Given the description of an element on the screen output the (x, y) to click on. 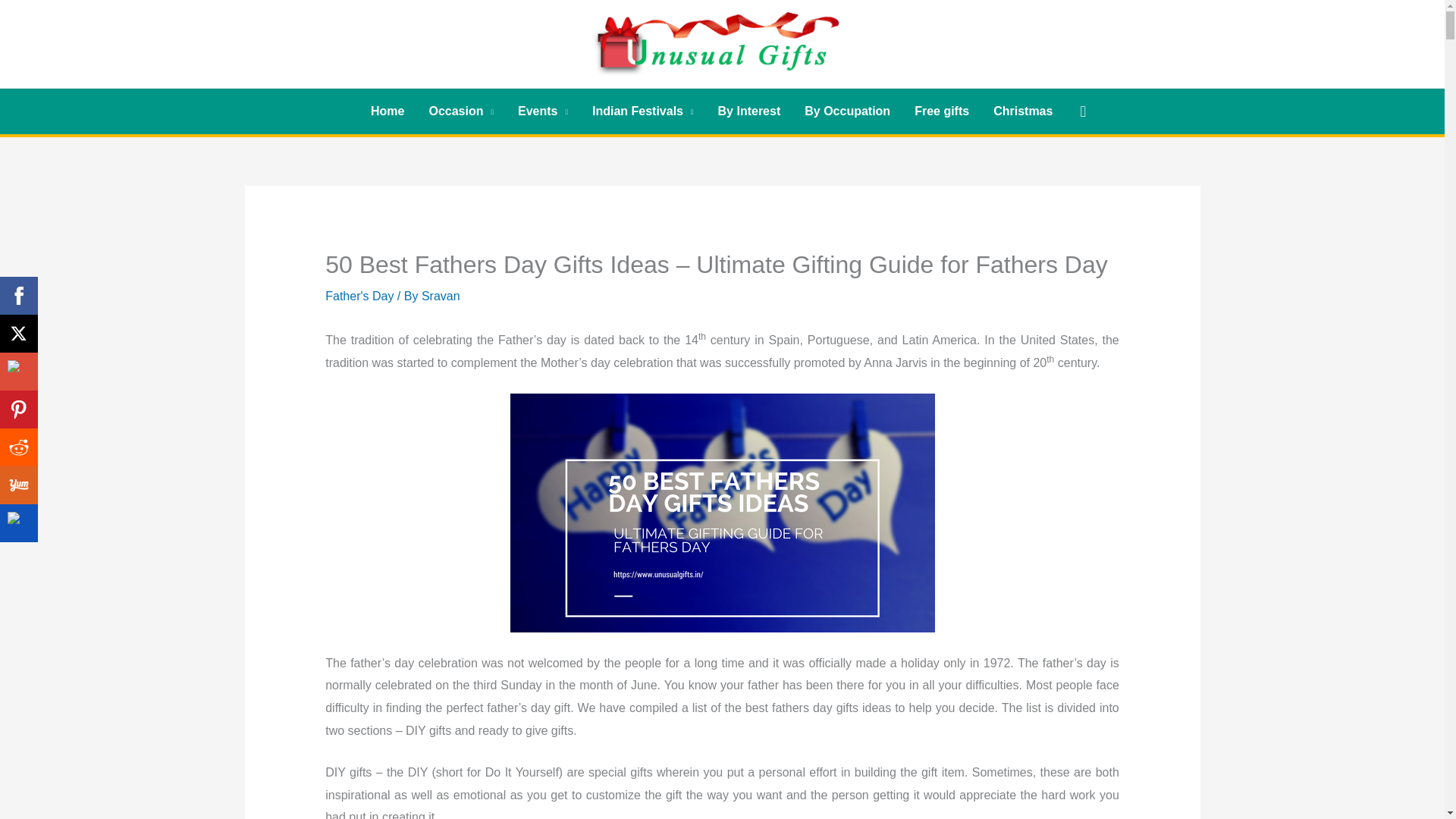
Home (387, 111)
Facebook (18, 295)
Events (542, 111)
Free gifts (941, 111)
Indian Festivals (642, 111)
By Occupation (847, 111)
Occasion (460, 111)
Reddit (18, 447)
SumoMe (18, 523)
Pinterest (18, 409)
